Given the description of an element on the screen output the (x, y) to click on. 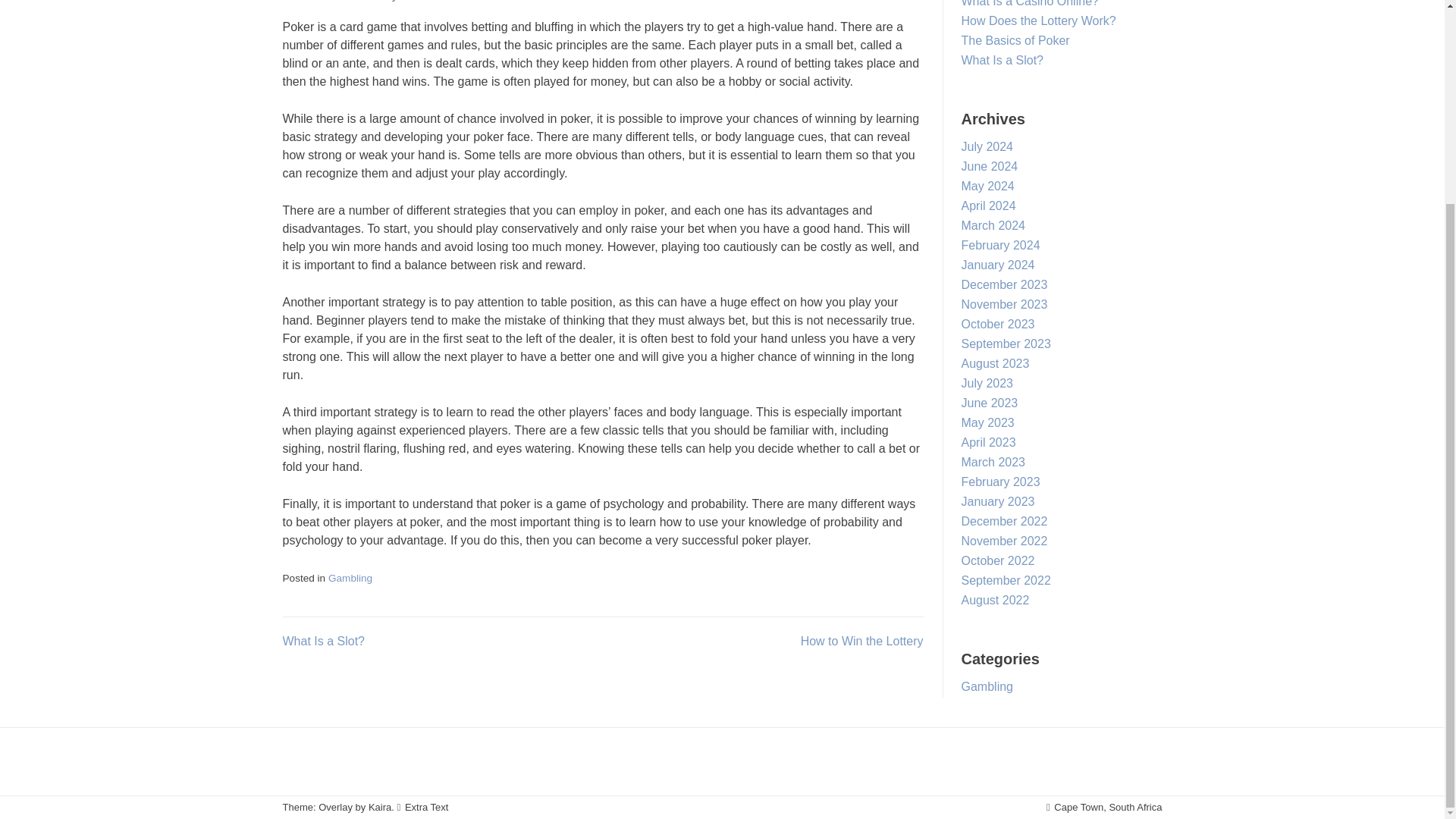
September 2023 (1005, 343)
July 2023 (986, 382)
August 2022 (994, 599)
What Is a Slot? (1001, 60)
January 2024 (997, 264)
What Is a Slot? (323, 640)
midcoasttakeover (439, 0)
May 2024 (987, 185)
How to Win the Lottery (861, 640)
March 2024 (993, 225)
April 2024 (988, 205)
June 2024 (988, 165)
October 2022 (997, 560)
What Is a Casino Online? (1029, 3)
November 2023 (1004, 304)
